Given the description of an element on the screen output the (x, y) to click on. 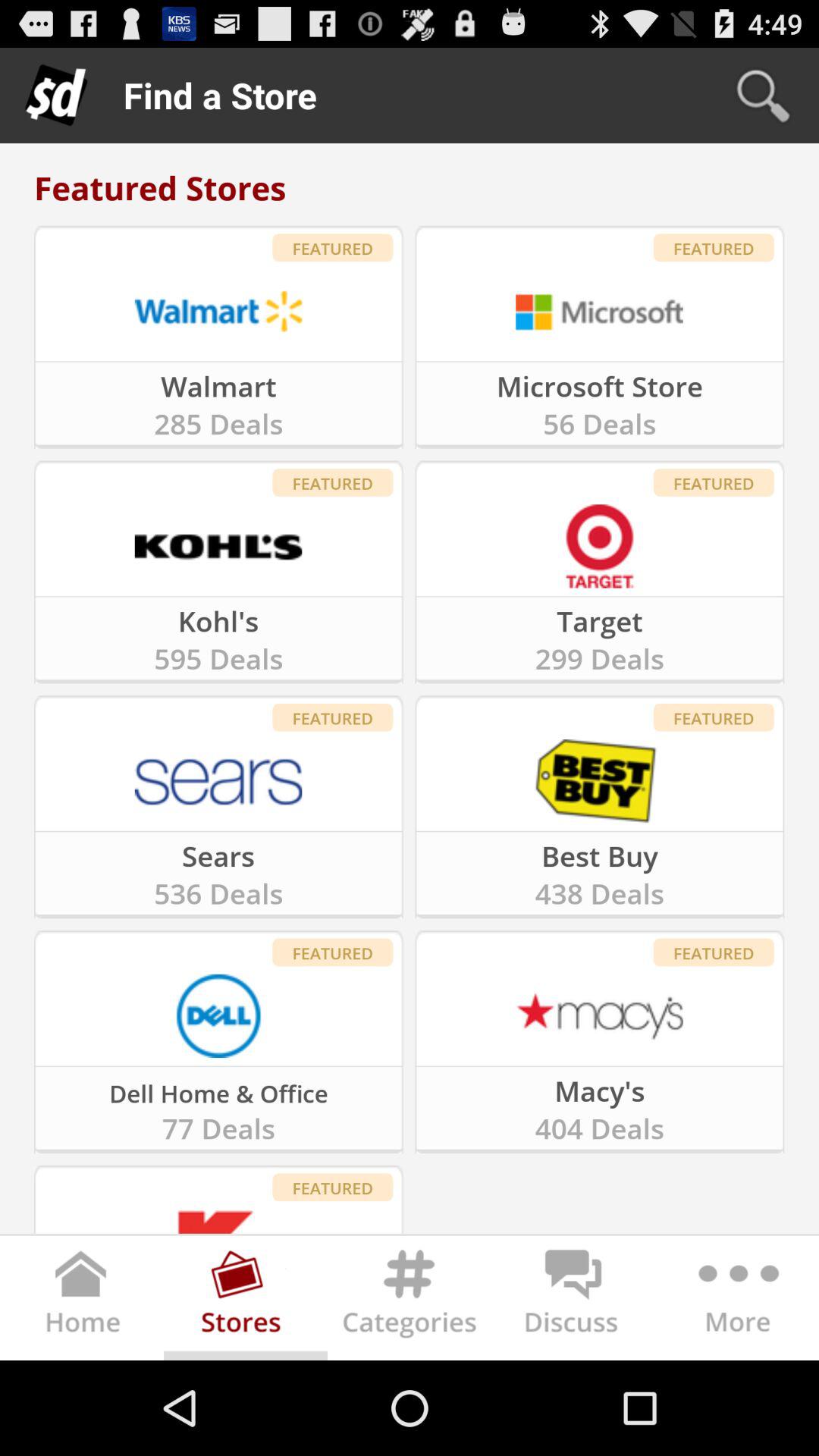
go to categories (409, 1301)
